Given the description of an element on the screen output the (x, y) to click on. 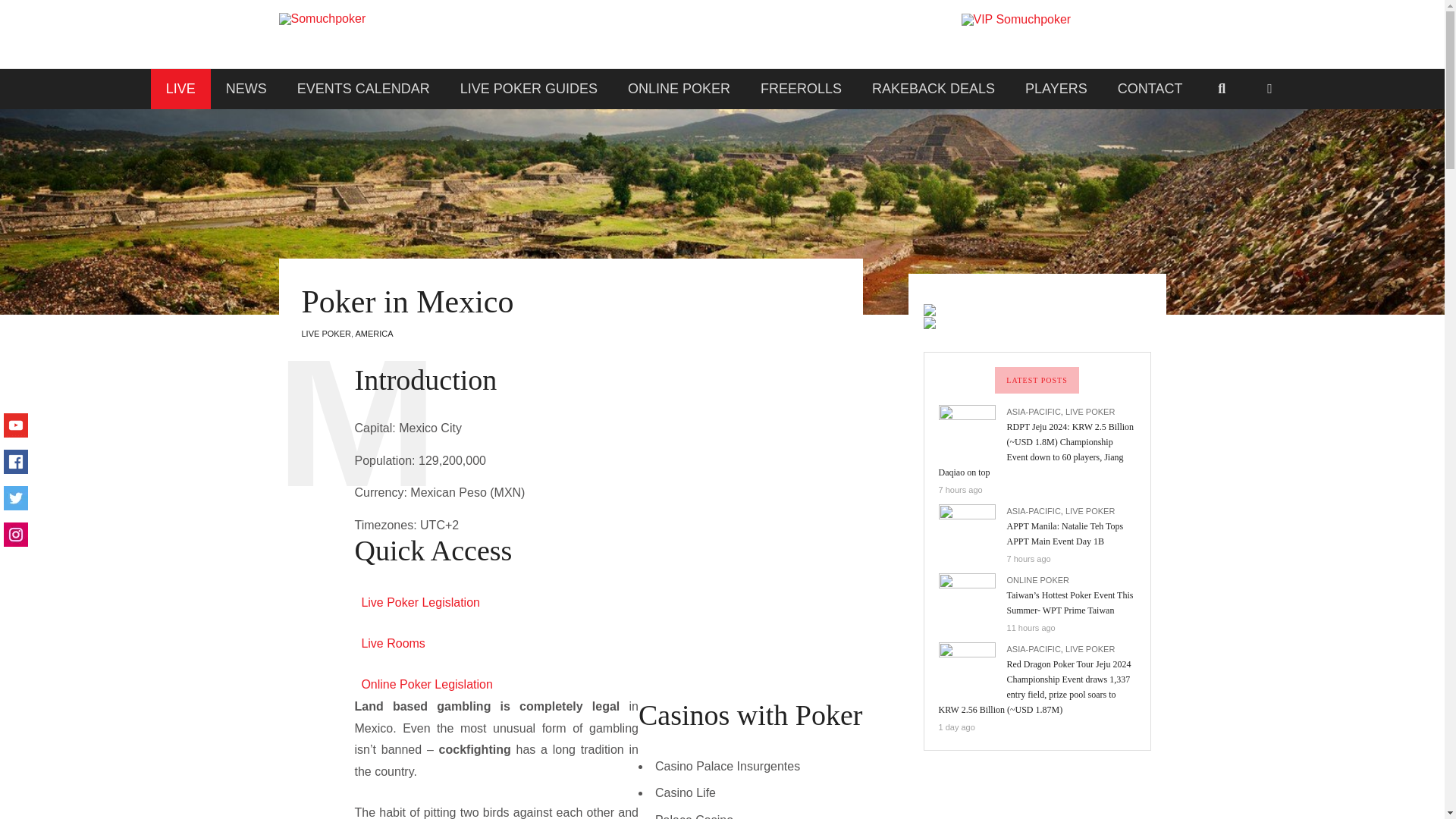
Follow us on twitter (15, 496)
Follow us on instagram (15, 533)
Somuchpoker (381, 33)
Telegram Channel (1063, 33)
Follow us on youtube (15, 423)
APPT Manila: Natalie Teh Tops APPT Main Event Day 1B (973, 528)
Follow us on facebook (15, 460)
APPT Manila: Natalie Teh Tops APPT Main Event Day 1B (1065, 533)
